Given the description of an element on the screen output the (x, y) to click on. 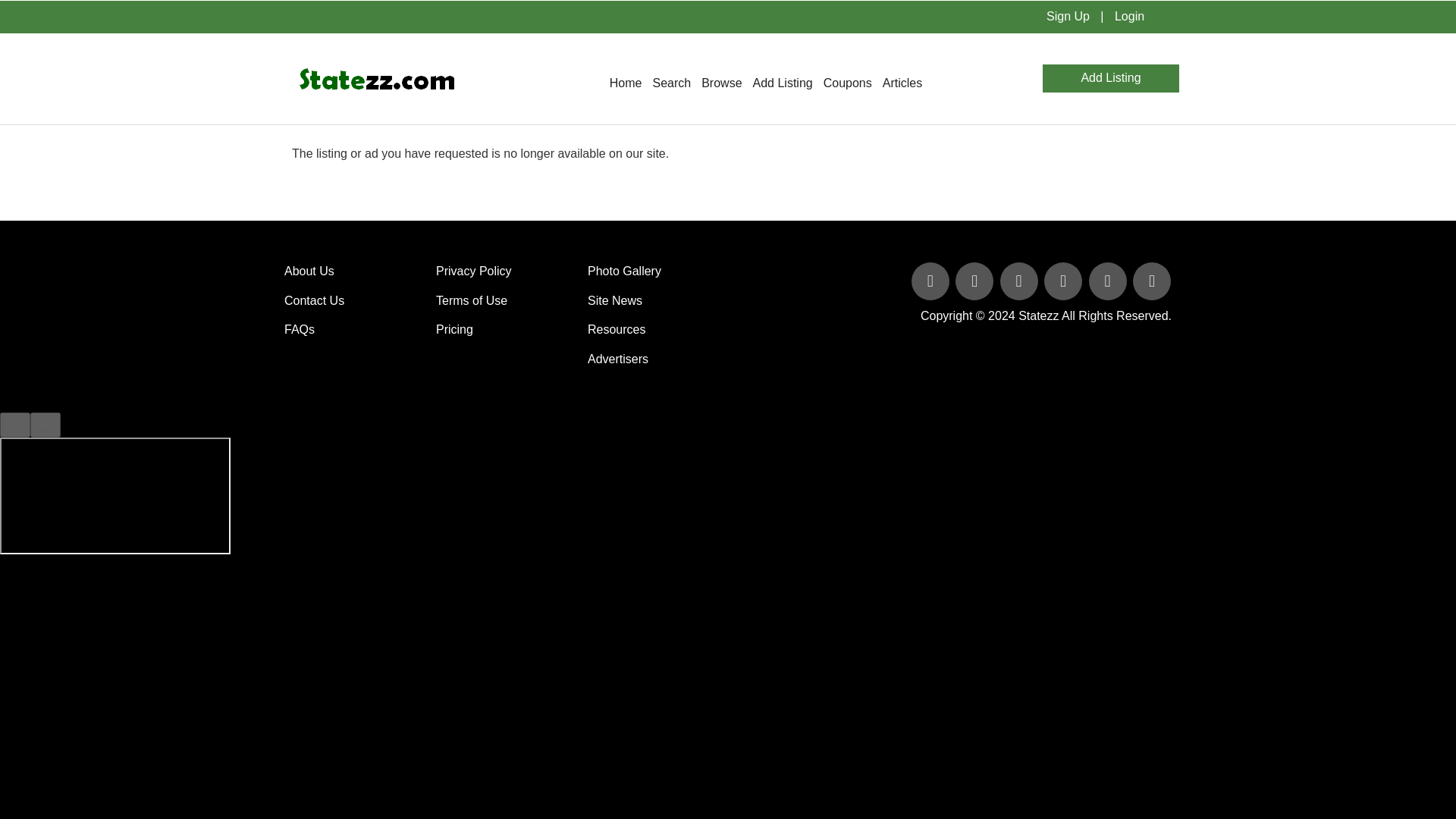
Follow Us on Twitter (975, 282)
Follow Us on Pinterest (1109, 282)
Sign Up (1068, 15)
Advertisers (617, 358)
Pricing (454, 328)
Follow Us on Linked In (1020, 282)
Follow Us on You Tube (1064, 282)
Privacy Policy (473, 270)
Resources (616, 328)
Add Listing (783, 83)
Terms of Use (470, 300)
Search (670, 83)
Home (625, 83)
Login (1128, 15)
Coupons (847, 83)
